Given the description of an element on the screen output the (x, y) to click on. 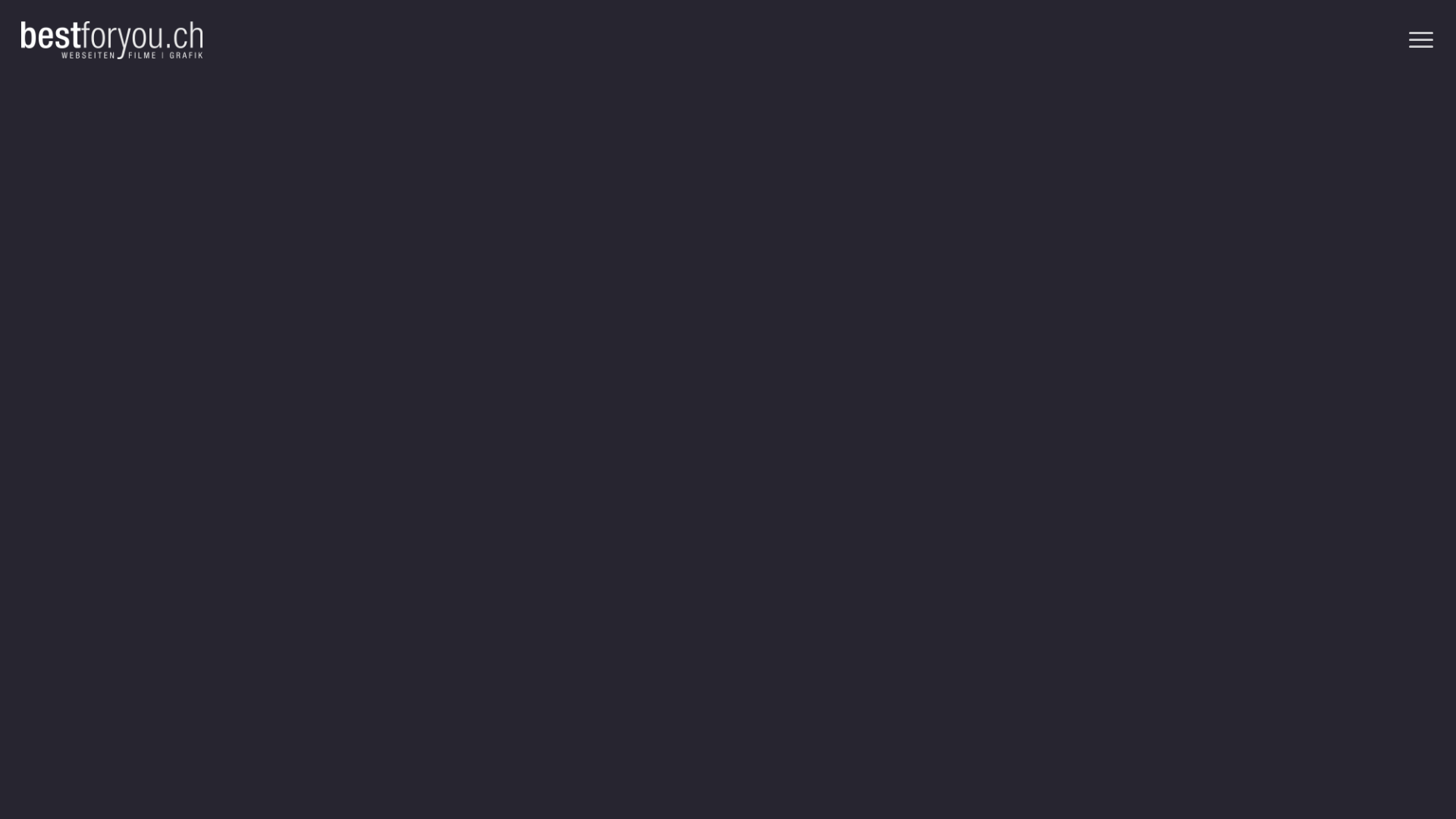
Telefon: 041 512 60 01 Element type: text (1096, 449)
Unverbindliche Offerte Einholen! Element type: text (968, 604)
bestforyou Kontaktformular Element type: hover (727, 438)
Unverbindliche Offerte Einholen! Element type: text (445, 520)
Unverbindliche Offerte Einholen! Element type: text (1067, 388)
